Given the description of an element on the screen output the (x, y) to click on. 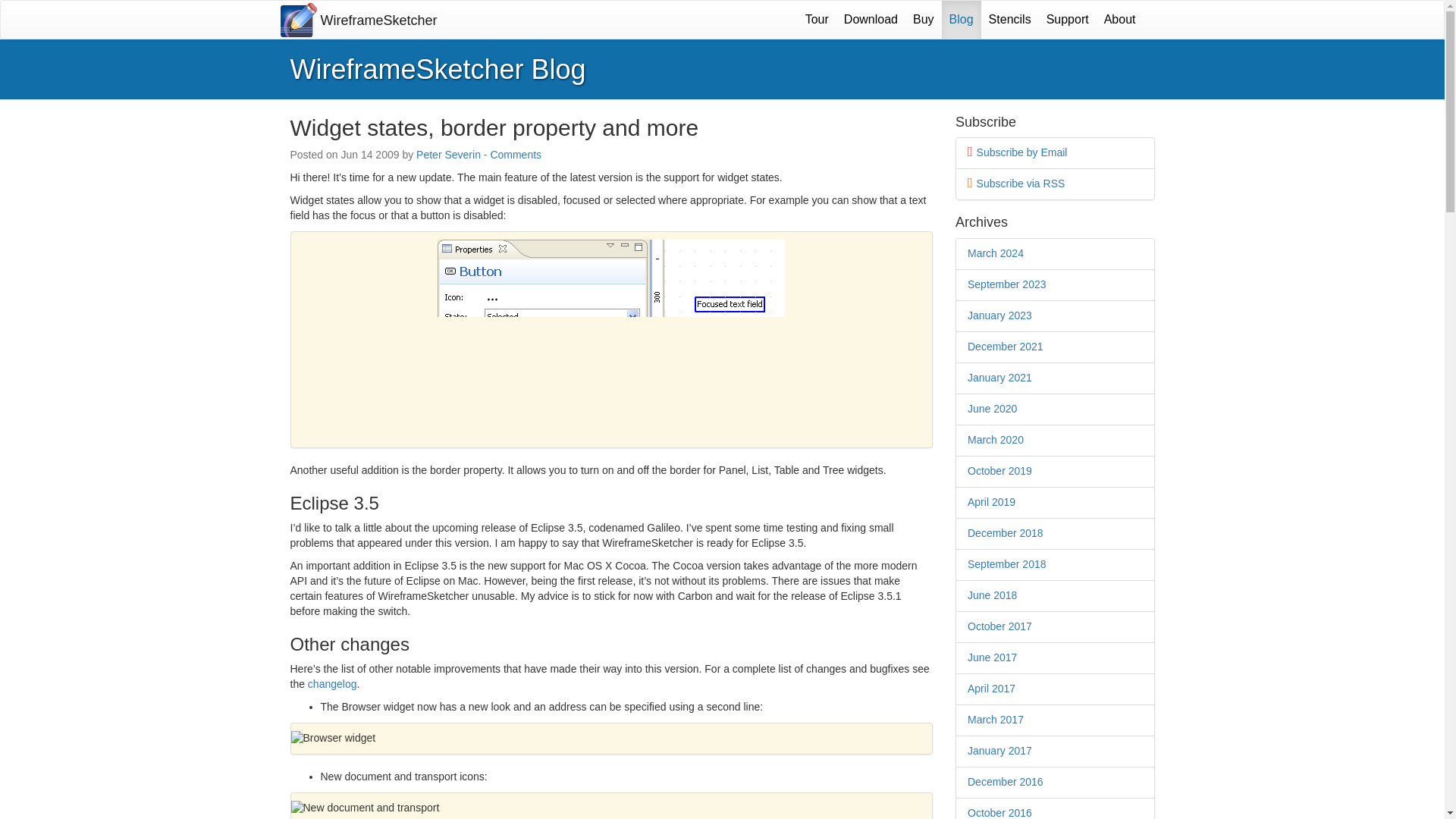
October 2016 (1000, 812)
About (1119, 19)
Comments (515, 154)
March 2024 (995, 253)
changelog (331, 684)
March 2017 (995, 719)
Download (870, 19)
June 2020 (992, 408)
September 2023 (1007, 284)
Subscribe by Email (1021, 152)
January 2023 (1000, 315)
New document and transport (612, 807)
October 2019 (1000, 470)
December 2021 (1005, 346)
Blog (961, 19)
